Given the description of an element on the screen output the (x, y) to click on. 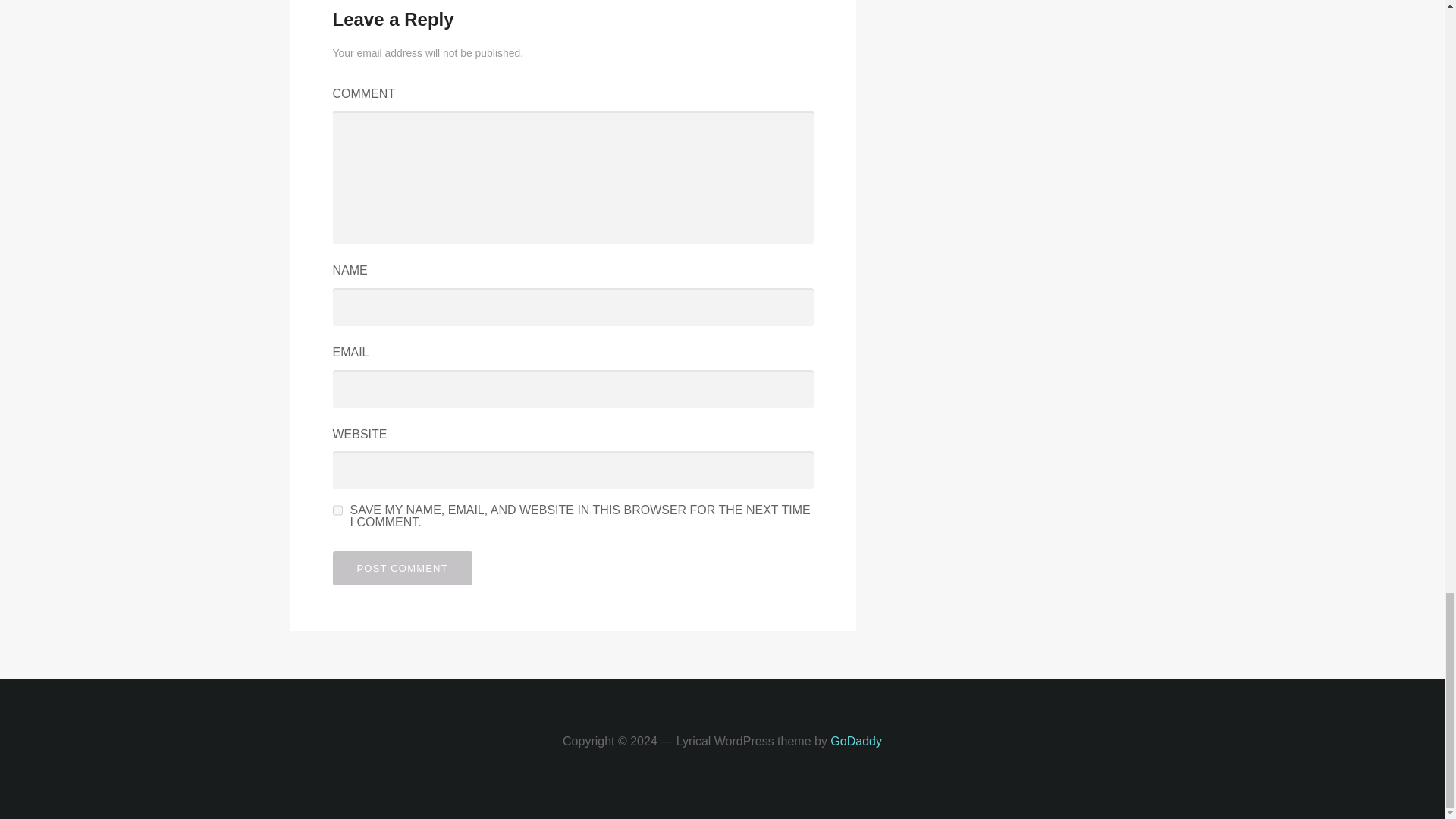
Post Comment (401, 568)
Post Comment (401, 568)
